Given the description of an element on the screen output the (x, y) to click on. 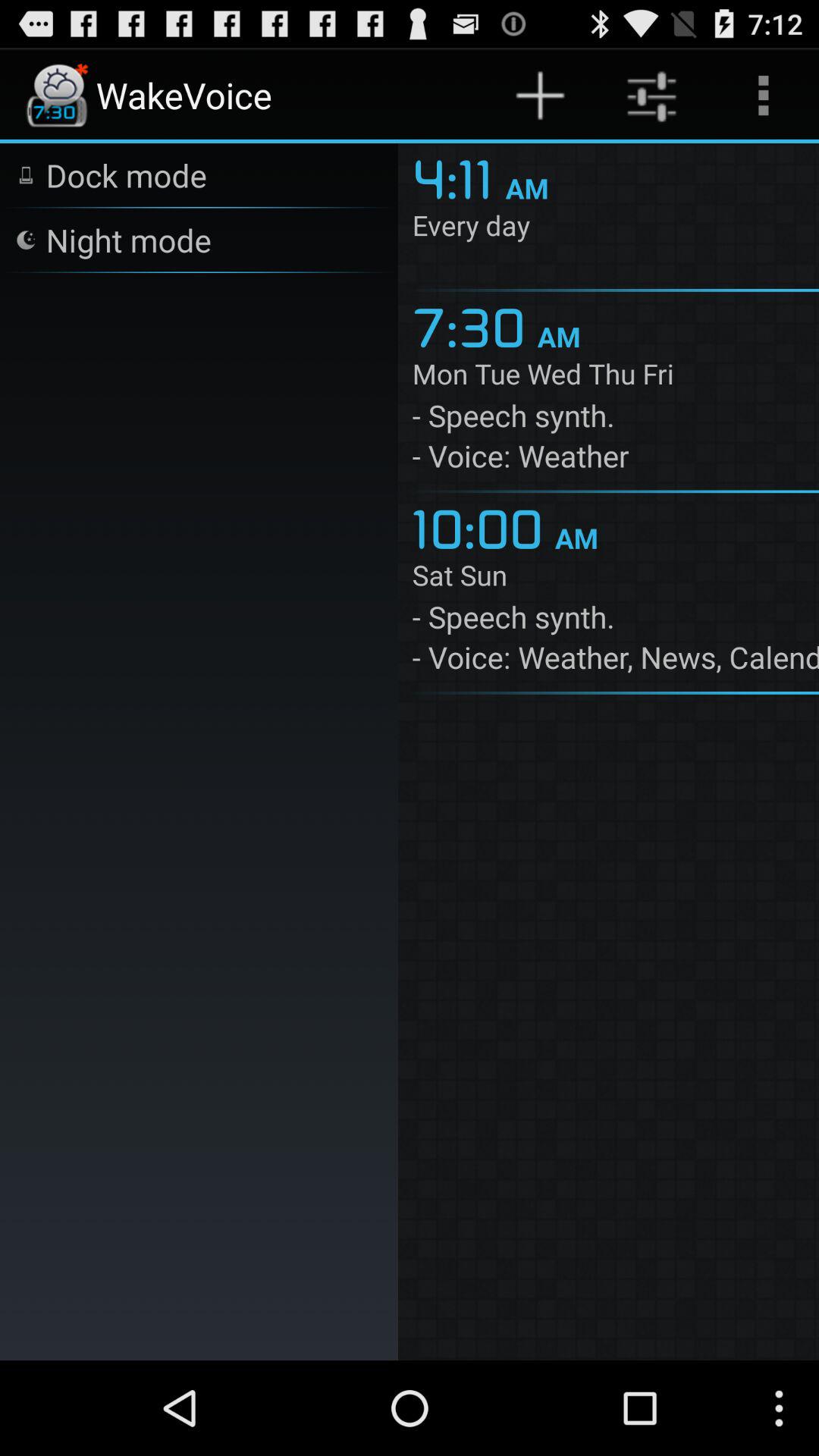
press the item above - speech synth. (615, 578)
